Given the description of an element on the screen output the (x, y) to click on. 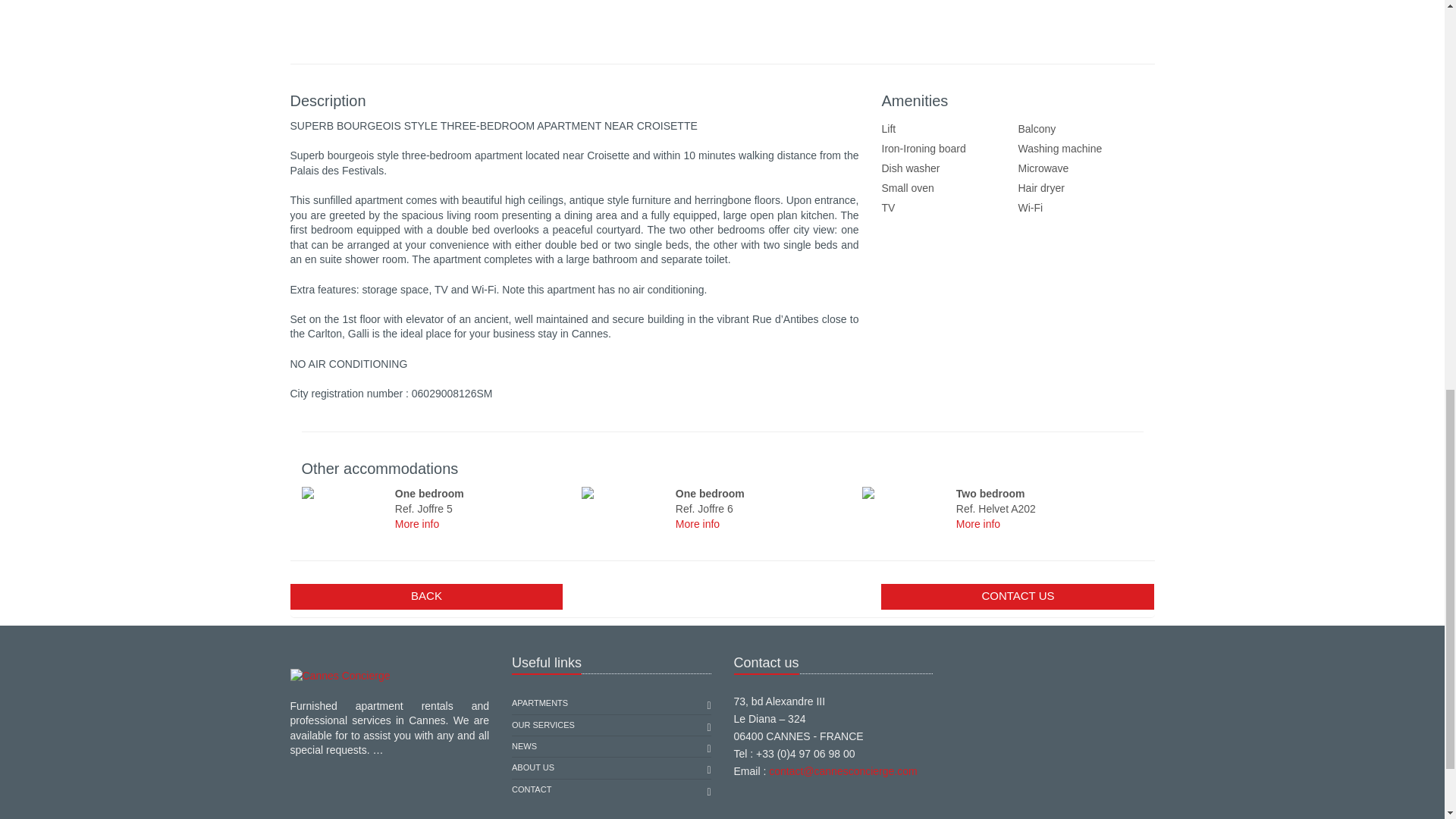
More info (697, 523)
One bedroom CANNES (345, 492)
More info (416, 523)
CONTACT (531, 789)
ABOUT US (533, 767)
More info : One bedroom - CANNES (697, 523)
More info (978, 523)
BACK (425, 596)
APARTMENTS (539, 702)
One bedroom CANNES (624, 492)
CONTACT US (1017, 596)
More info : One bedroom - CANNES (416, 523)
NEWS (524, 746)
Two bedroom CANNES (905, 492)
OUR SERVICES (543, 724)
